Given the description of an element on the screen output the (x, y) to click on. 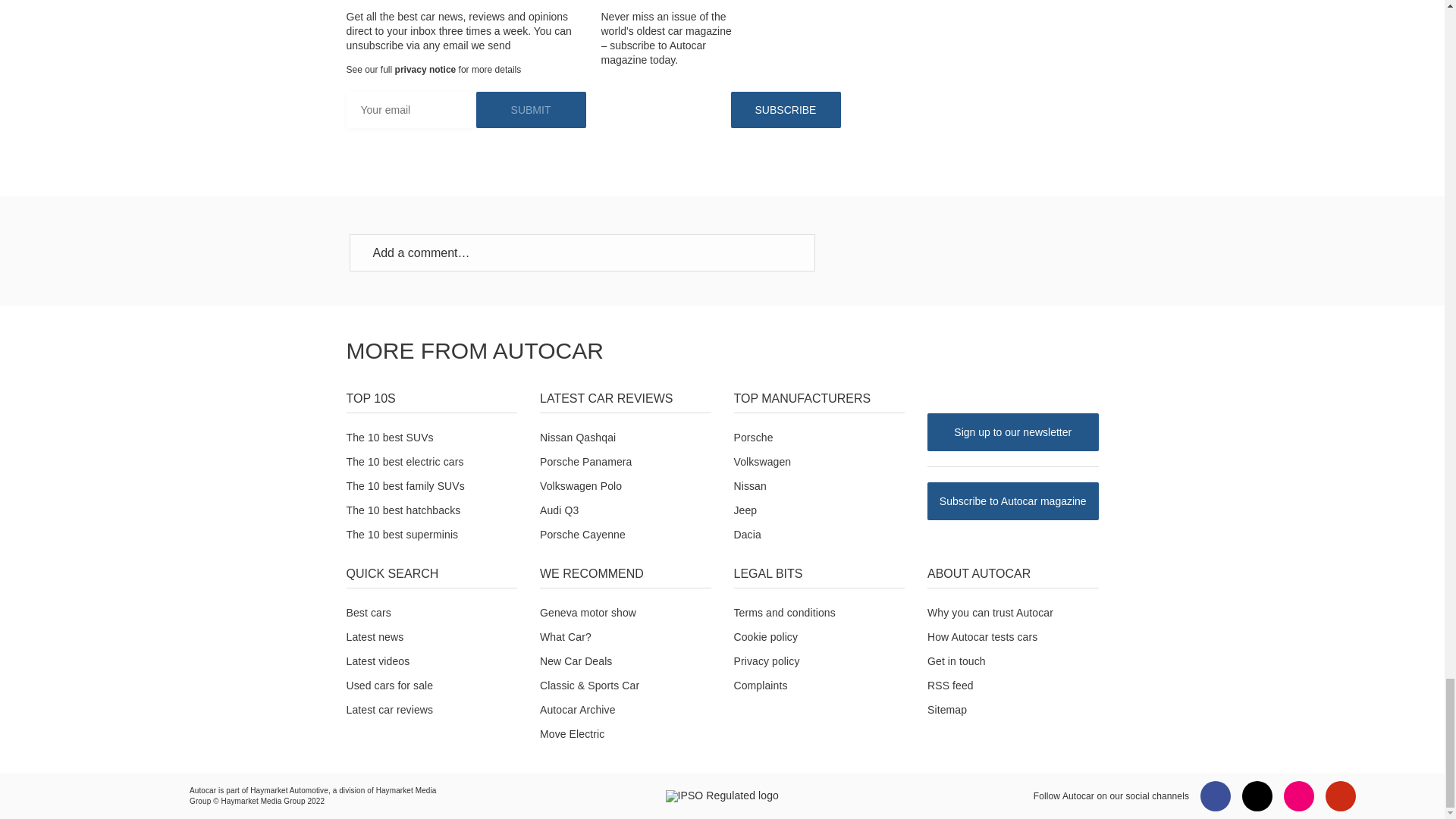
Submit (531, 109)
